Given the description of an element on the screen output the (x, y) to click on. 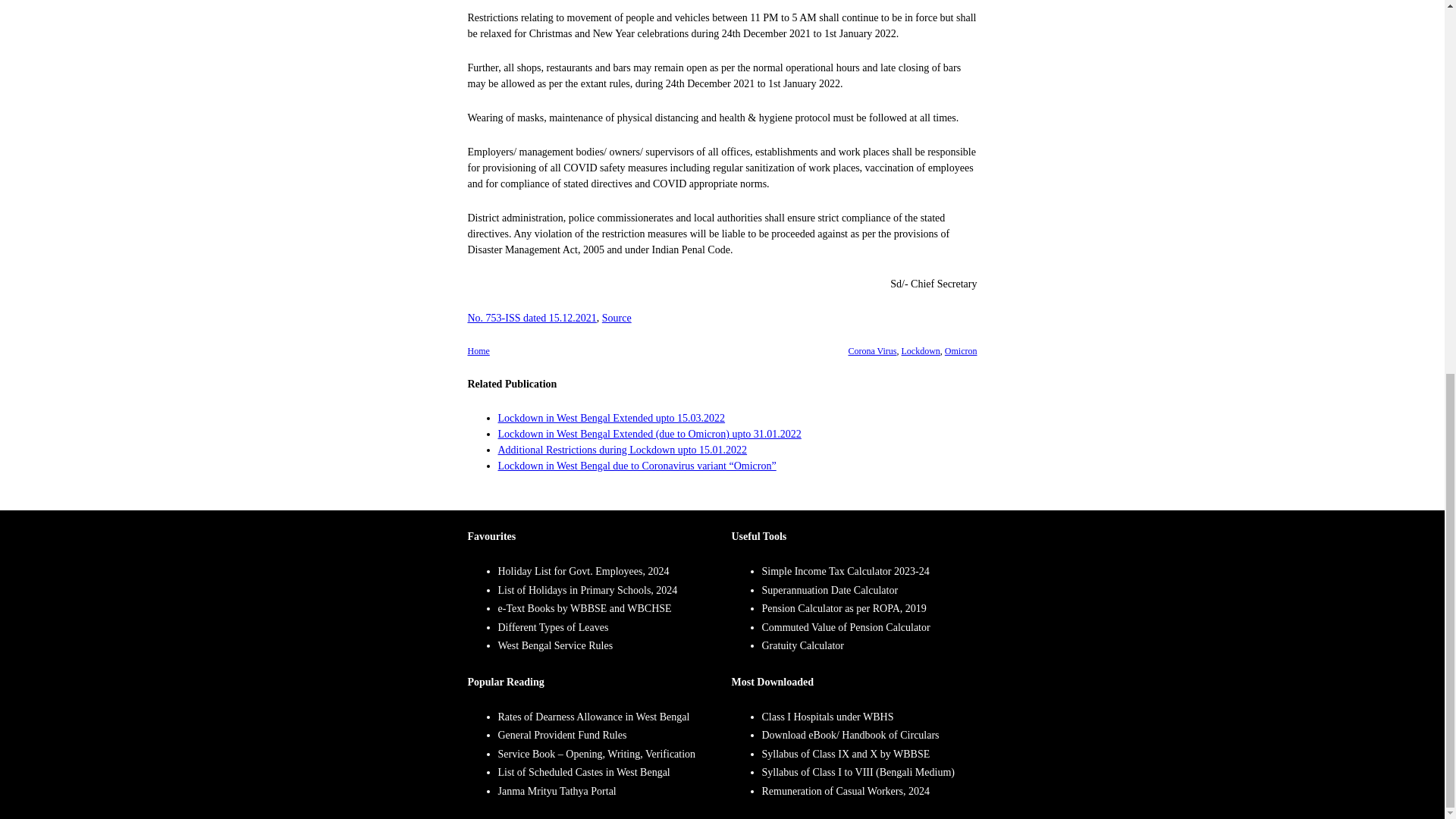
Corona Virus (871, 350)
Additional Restrictions during Lockdown upto 15.01.2022 (621, 449)
Superannuation Date Calculator (829, 589)
Lockdown in West Bengal Extended upto 15.03.2022 (611, 418)
West Bengal Service Rules (554, 645)
List of Scheduled Castes in West Bengal (583, 772)
Simple Income Tax Calculator 2023-24 (844, 571)
Omicron (960, 350)
No. 753-ISS dated 15.12.2021 (531, 317)
Different Types of Leaves (552, 627)
Holiday List for Govt. Employees, 2024 (582, 571)
Commuted Value of Pension Calculator (845, 627)
Source (616, 317)
Syllabus of Class IX and X by WBBSE (845, 753)
General Provident Fund Rules (561, 735)
